Given the description of an element on the screen output the (x, y) to click on. 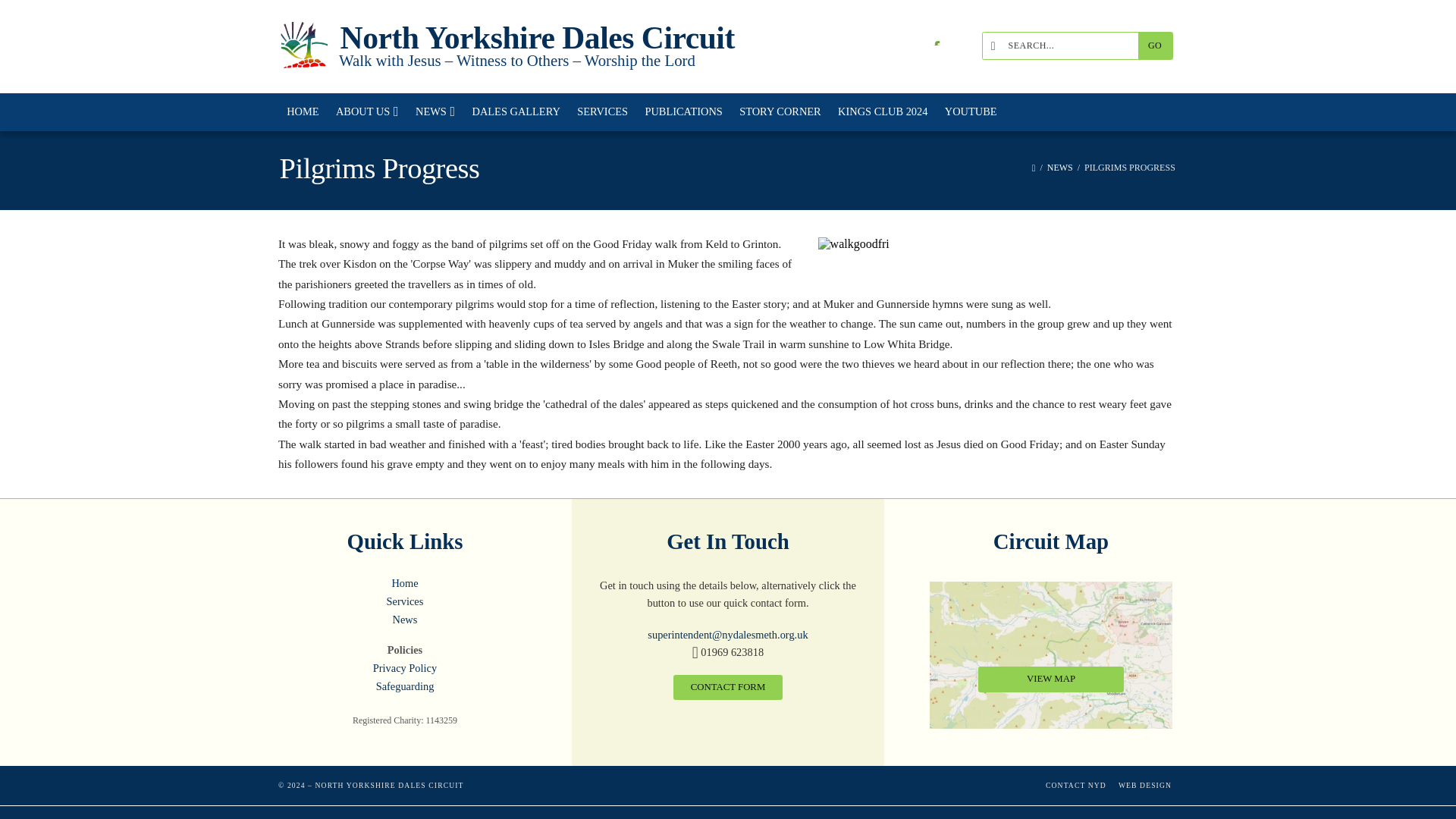
SEARCH... (1064, 45)
PUBLICATIONS (683, 112)
ABOUT US (367, 112)
DALES GALLERY (516, 112)
KINGS CLUB 2024 (882, 112)
SERVICES (602, 112)
Visit our Facebook Page (935, 46)
Safeguarding (404, 686)
Visit our YouTube Channel (914, 46)
